Given the description of an element on the screen output the (x, y) to click on. 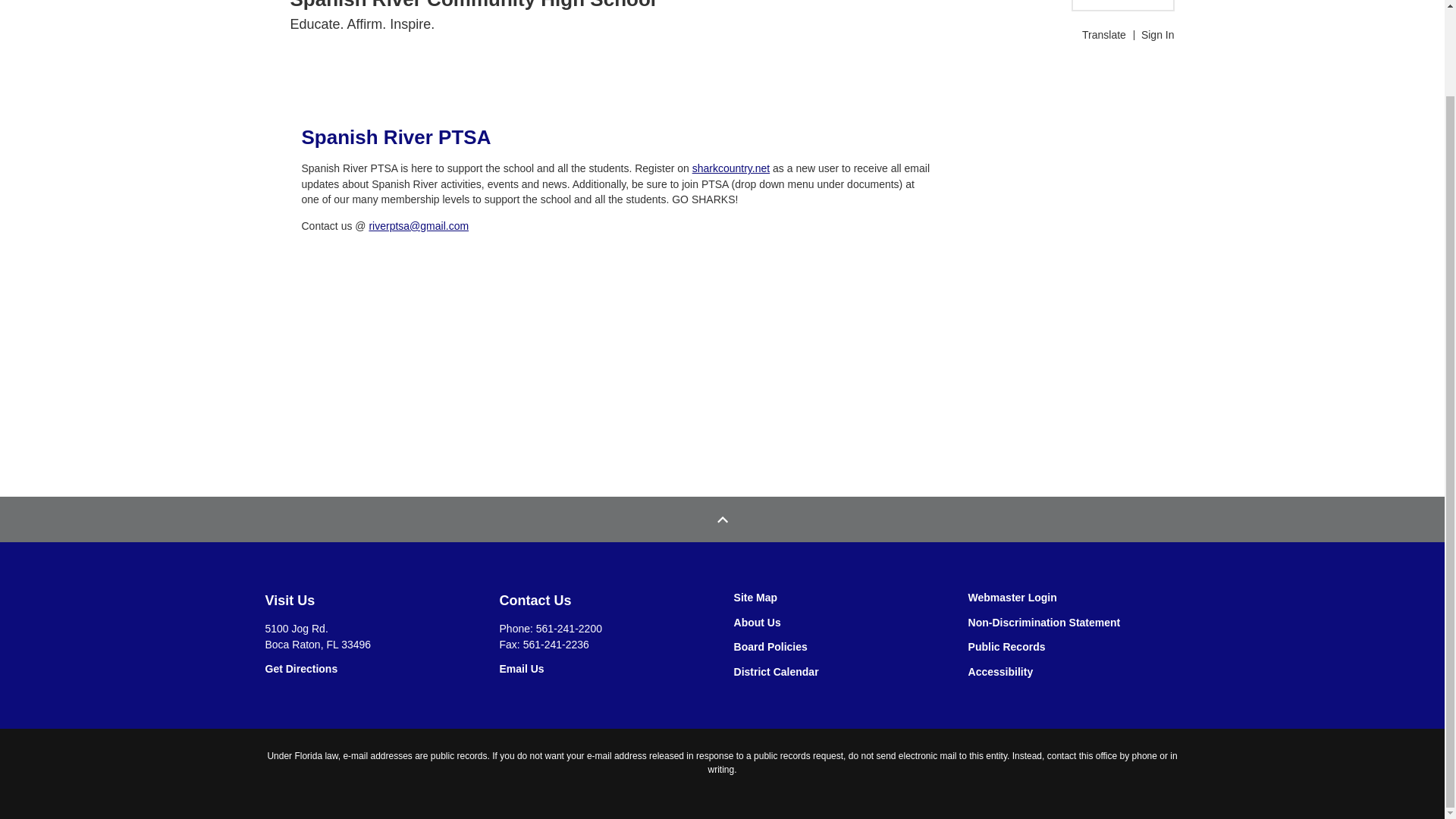
District Home (1122, 5)
